Given the description of an element on the screen output the (x, y) to click on. 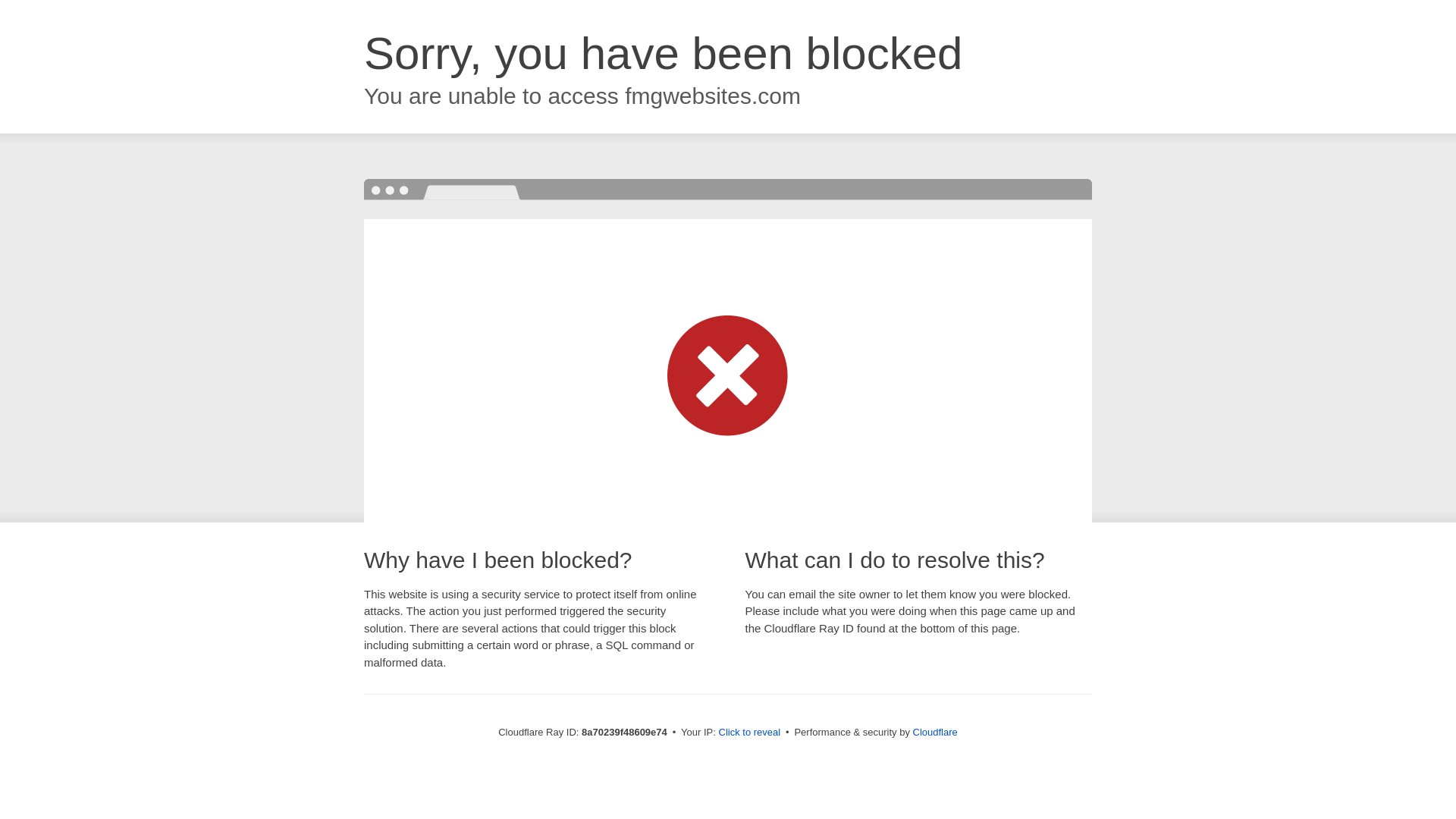
Cloudflare (935, 731)
Click to reveal (749, 732)
